Given the description of an element on the screen output the (x, y) to click on. 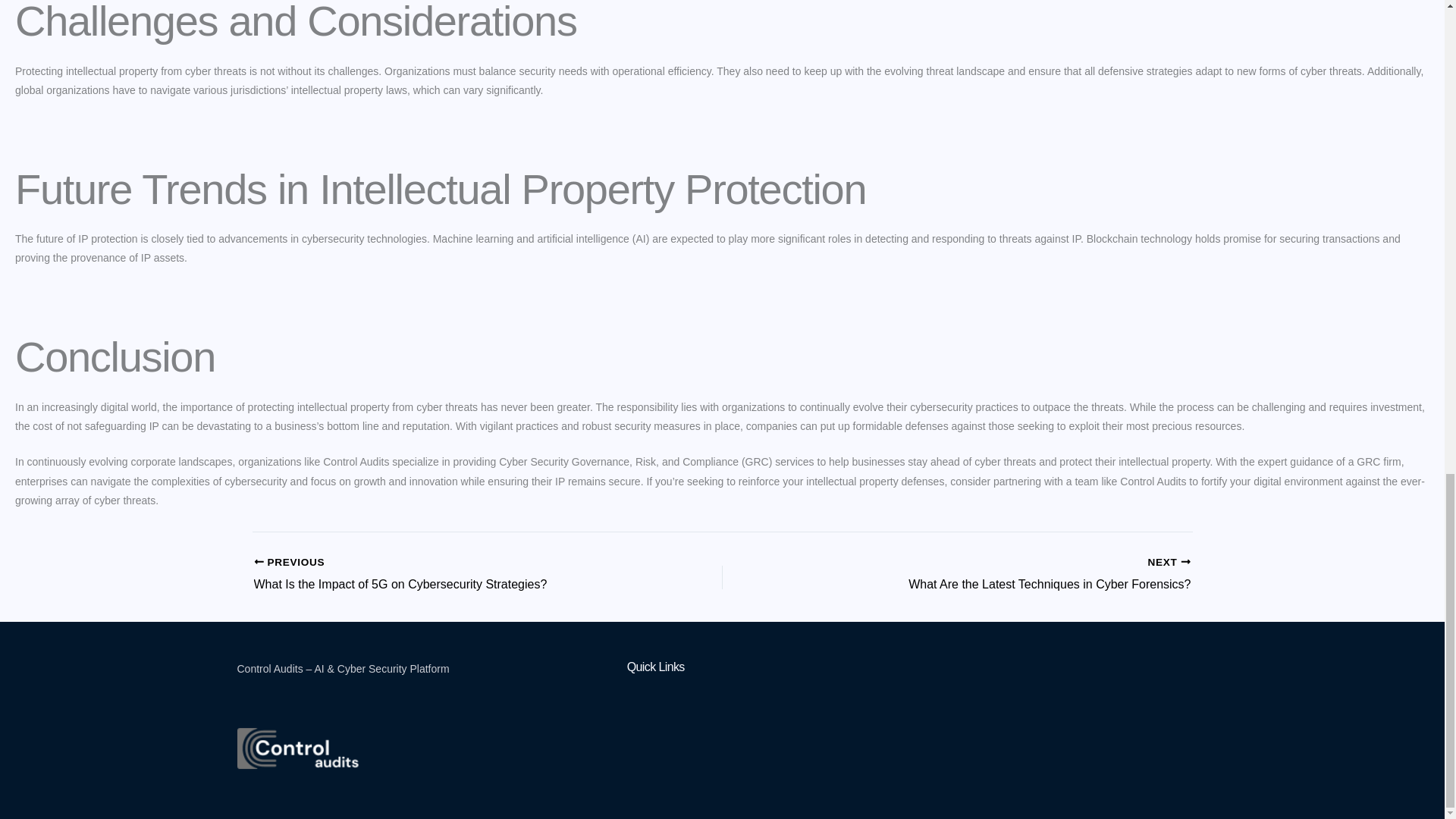
What Is the Impact of 5G on Cybersecurity Strategies? (1002, 574)
What Are the Latest Techniques in Cyber Forensics? (440, 574)
